Given the description of an element on the screen output the (x, y) to click on. 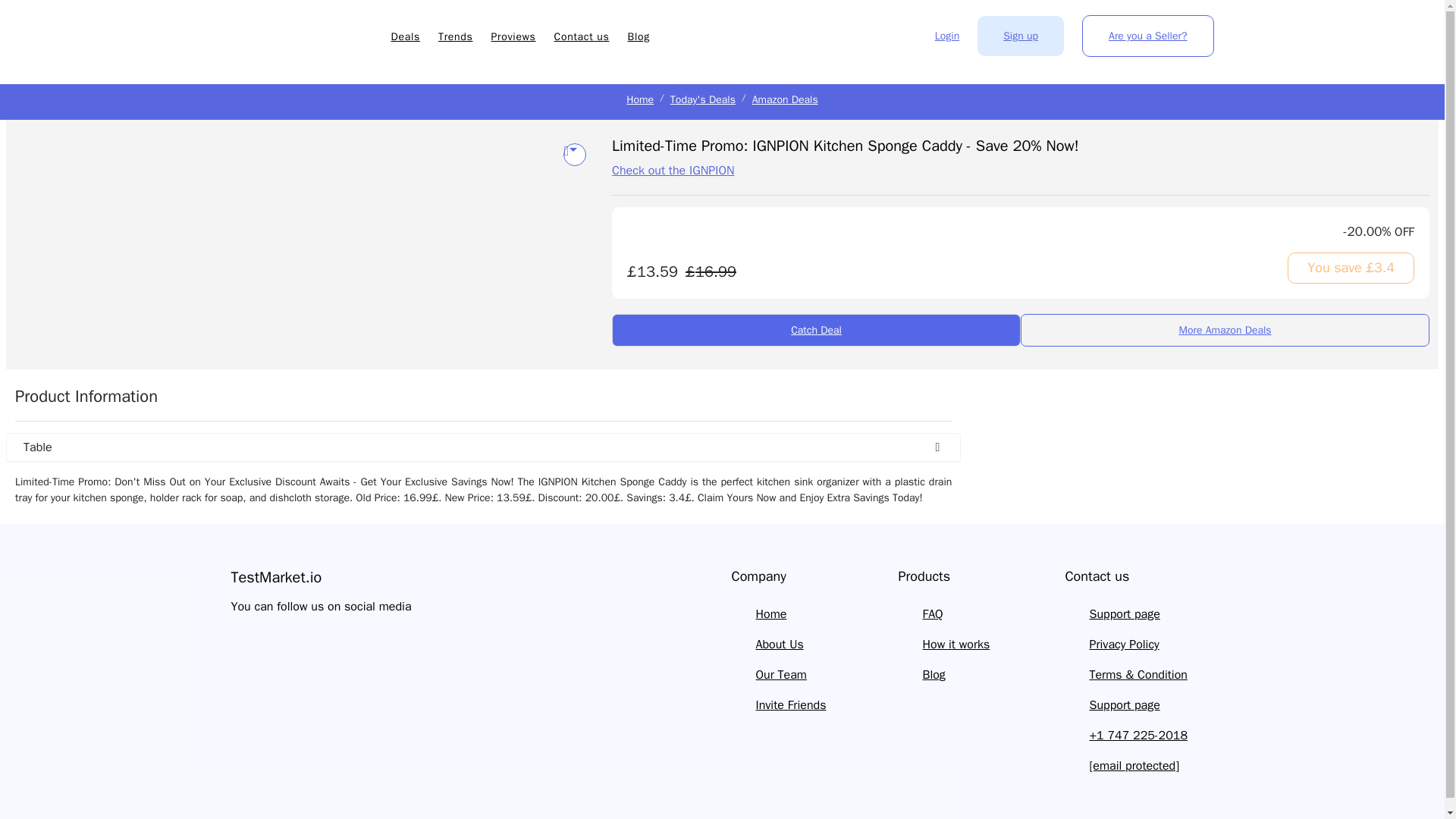
Trends (455, 36)
Blog (638, 36)
Invite Friends (790, 704)
Catch Deal (815, 329)
Check out the IGNPION (672, 169)
Home (770, 613)
More Amazon Deals (1224, 329)
Home (639, 99)
Login (946, 35)
Sign up (1020, 35)
FAQ (931, 613)
Today's Deals (702, 99)
Amazon Deals (785, 99)
Proviews (513, 36)
Are you a Seller? (1146, 35)
